Given the description of an element on the screen output the (x, y) to click on. 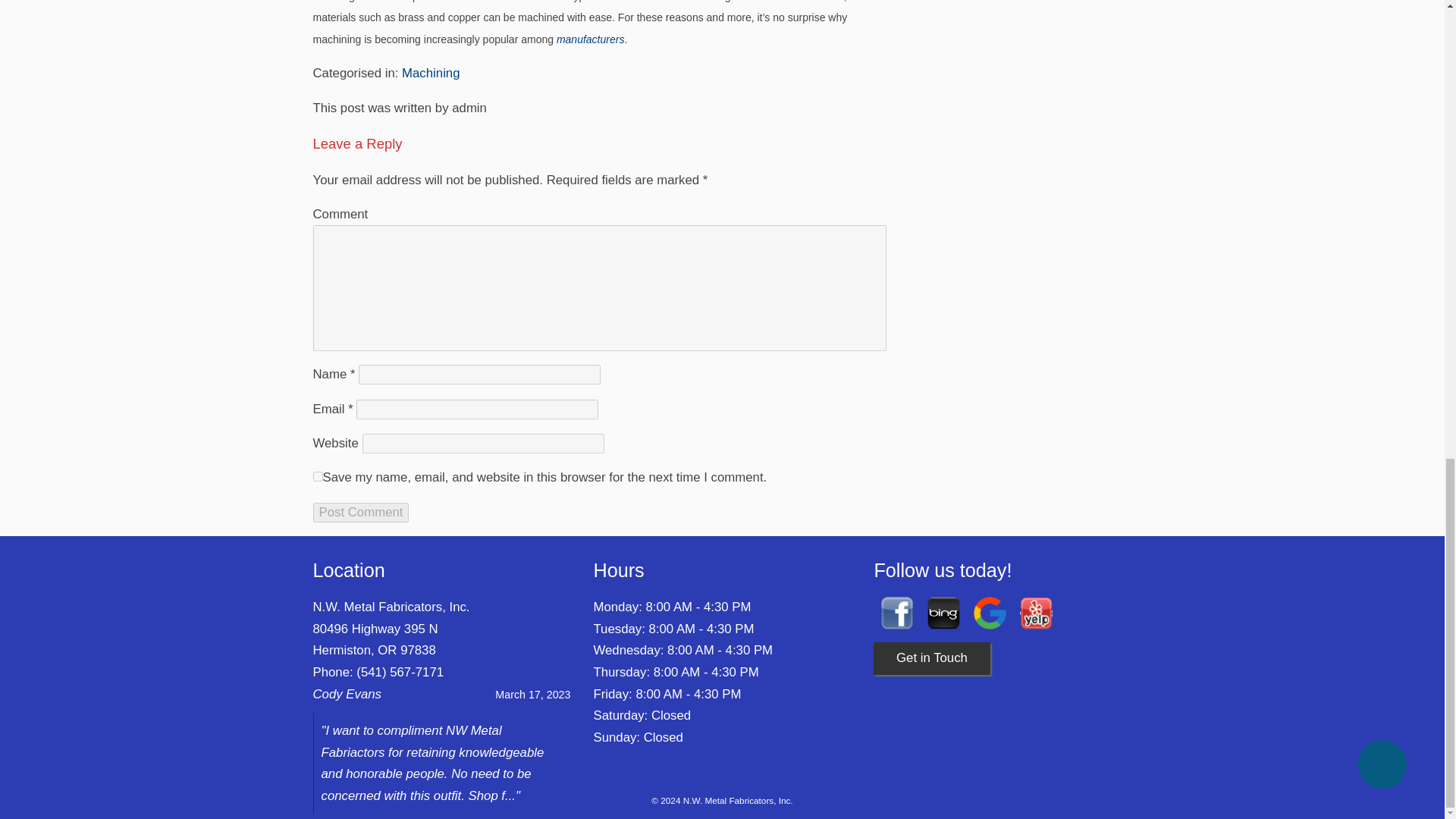
Post Comment (361, 512)
yes (317, 476)
Machining (430, 73)
manufacturers (590, 39)
Post Comment (361, 512)
